Given the description of an element on the screen output the (x, y) to click on. 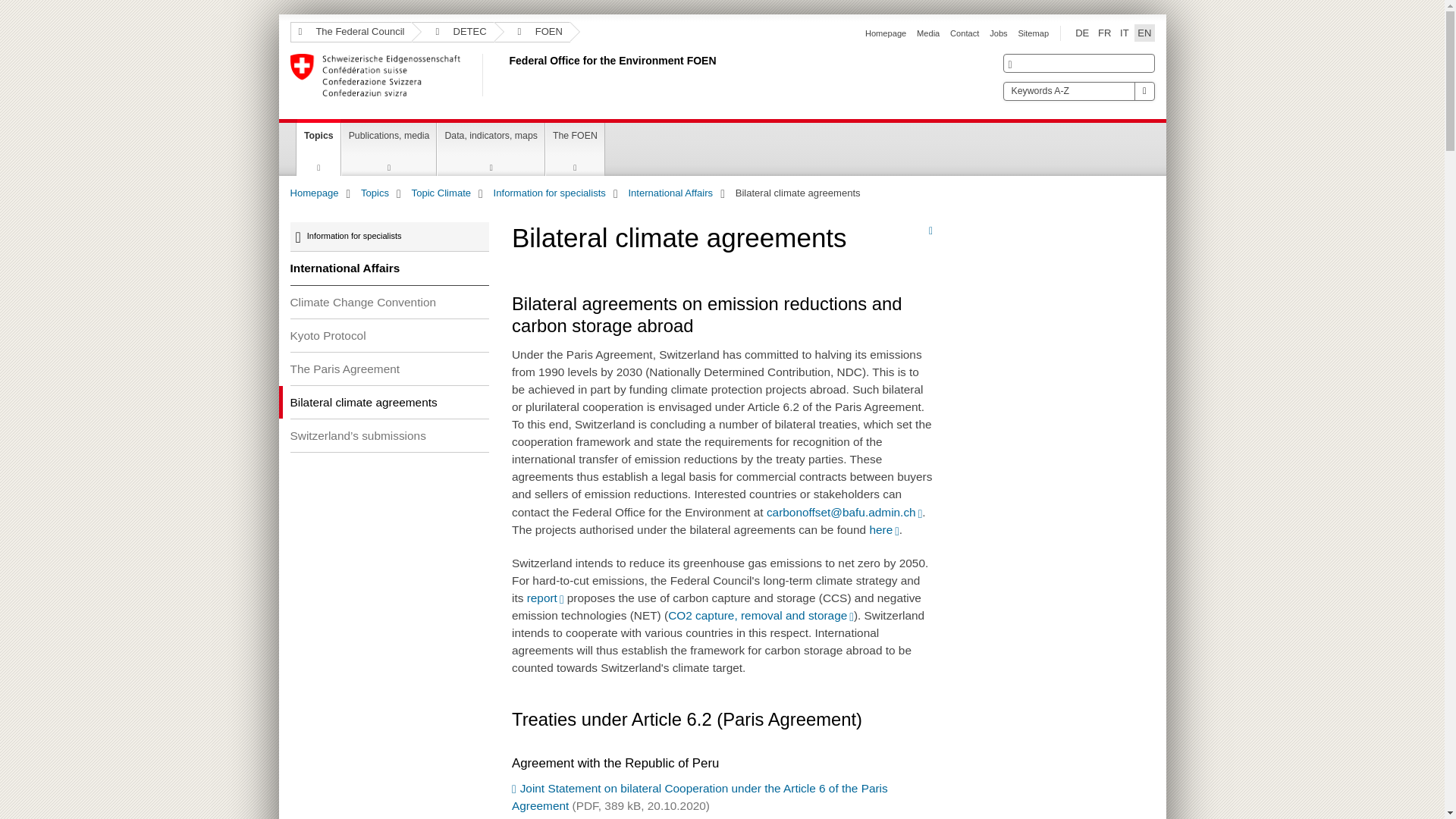
DE (1081, 32)
The Federal Council (350, 32)
DETEC (452, 32)
Sitemap (1032, 32)
Media (928, 32)
Contact (964, 32)
EN (1144, 32)
Homepage (884, 32)
FOEN (532, 32)
Federal Office for the Environment FOEN (505, 75)
